Given the description of an element on the screen output the (x, y) to click on. 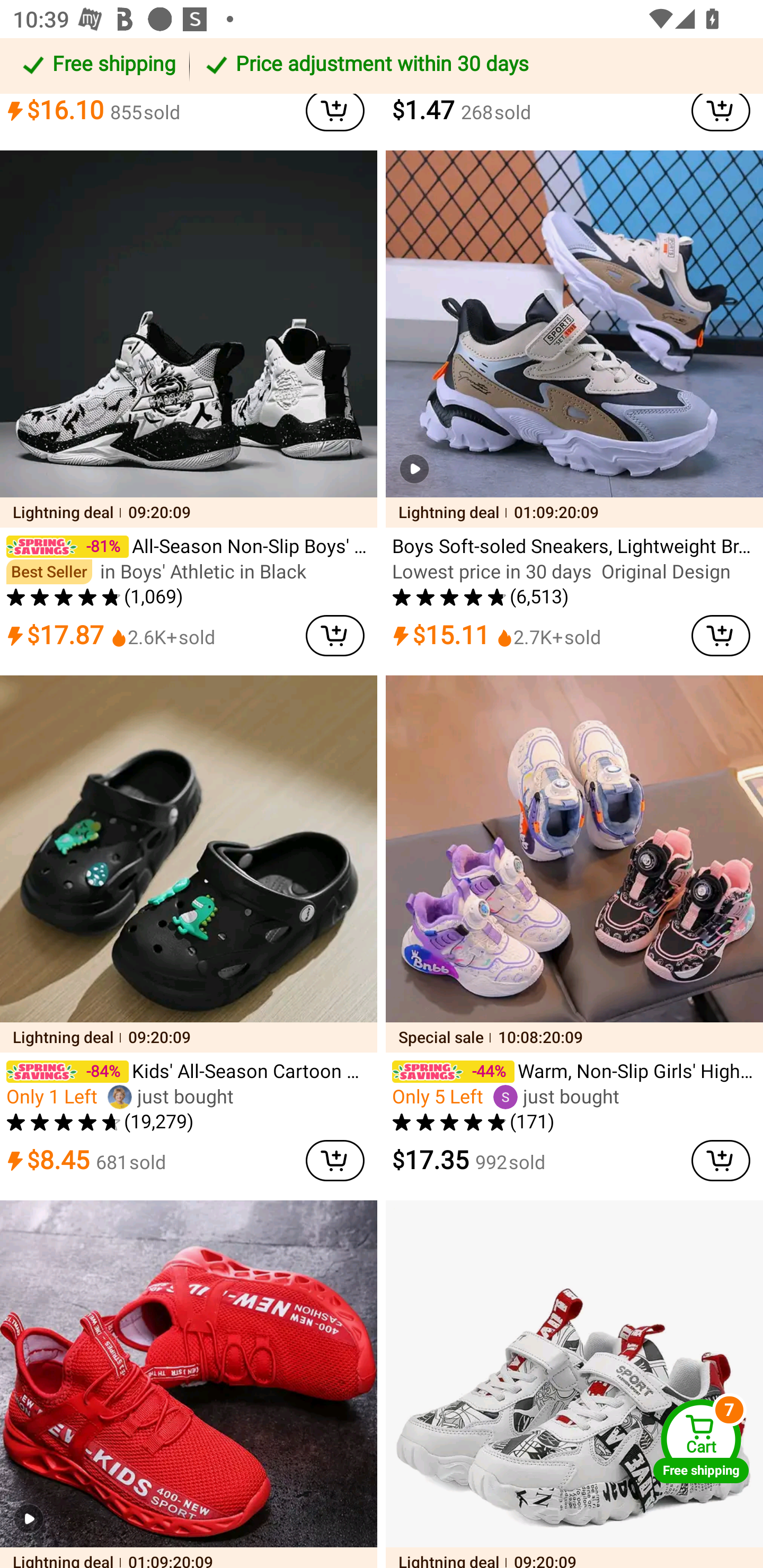
Free shipping (97, 65)
Price adjustment within 30 days (472, 65)
cart delete (334, 110)
cart delete (720, 110)
cart delete (334, 635)
cart delete (720, 635)
cart delete (334, 1159)
cart delete (720, 1159)
Cart Free shipping Cart (701, 1440)
